Given the description of an element on the screen output the (x, y) to click on. 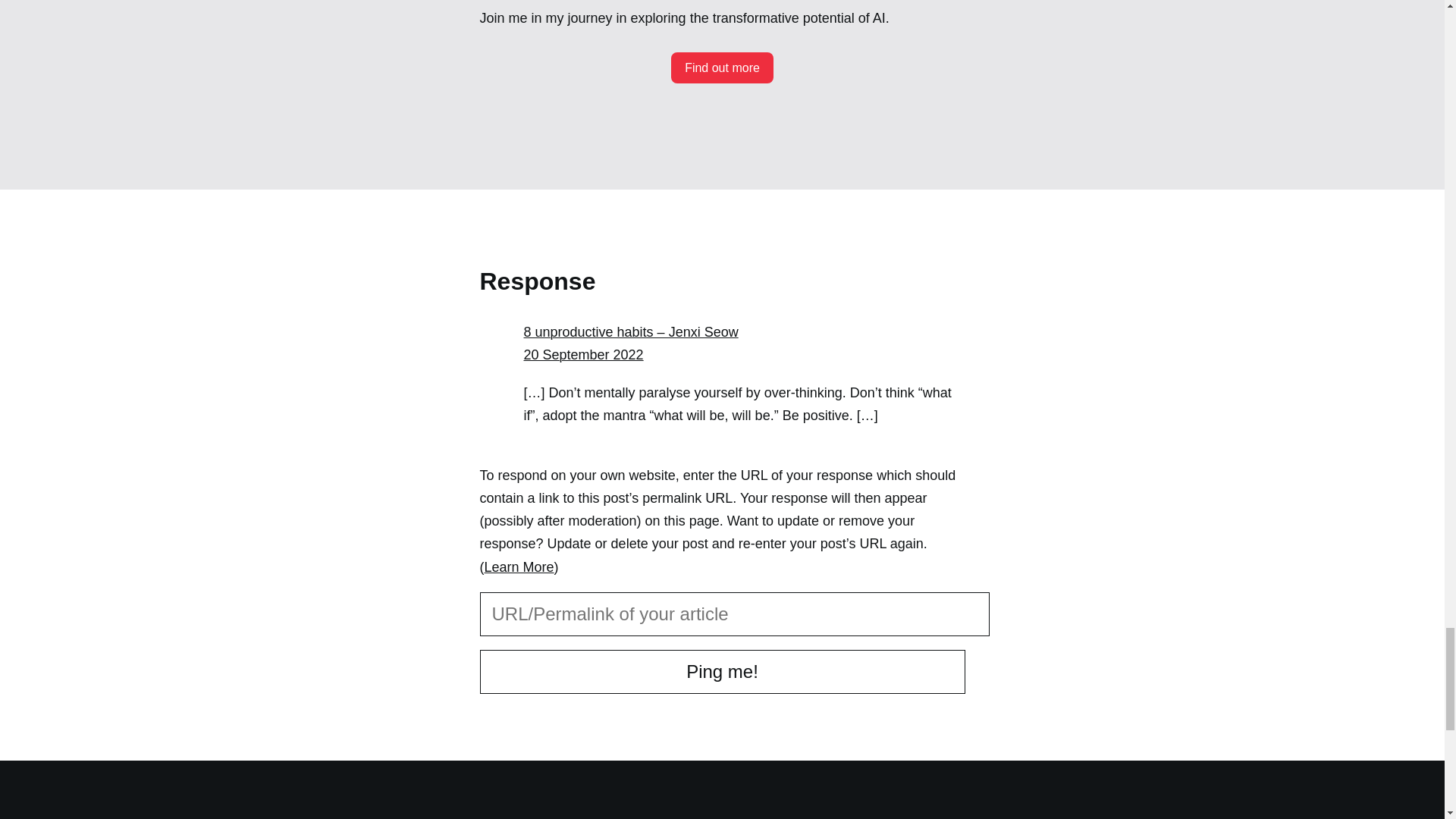
Learn More (518, 566)
Ping me! (721, 671)
20 September 2022 (582, 354)
Ping me! (721, 671)
Find out more (722, 68)
